Given the description of an element on the screen output the (x, y) to click on. 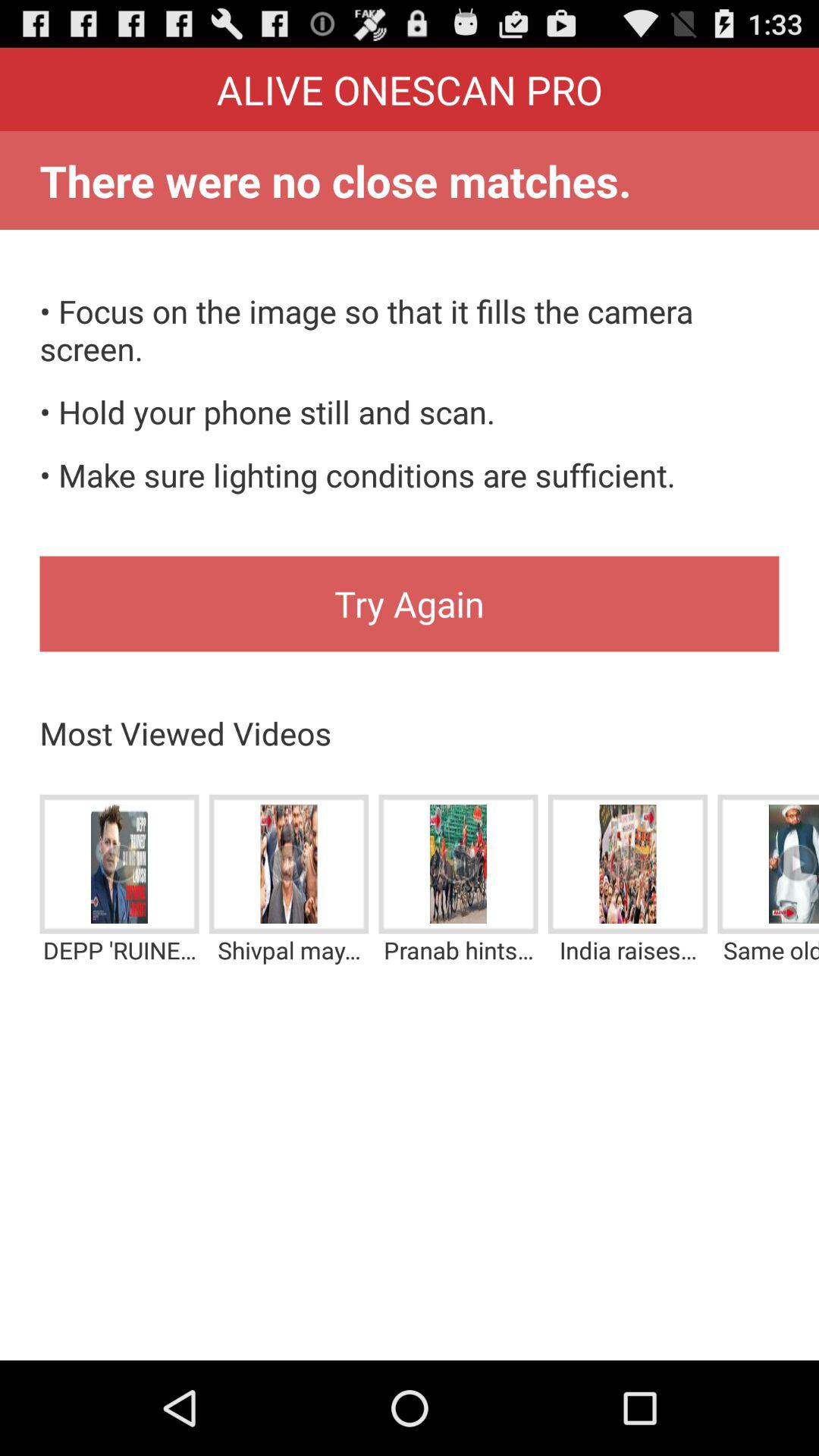
open icon above most viewed videos item (409, 603)
